Given the description of an element on the screen output the (x, y) to click on. 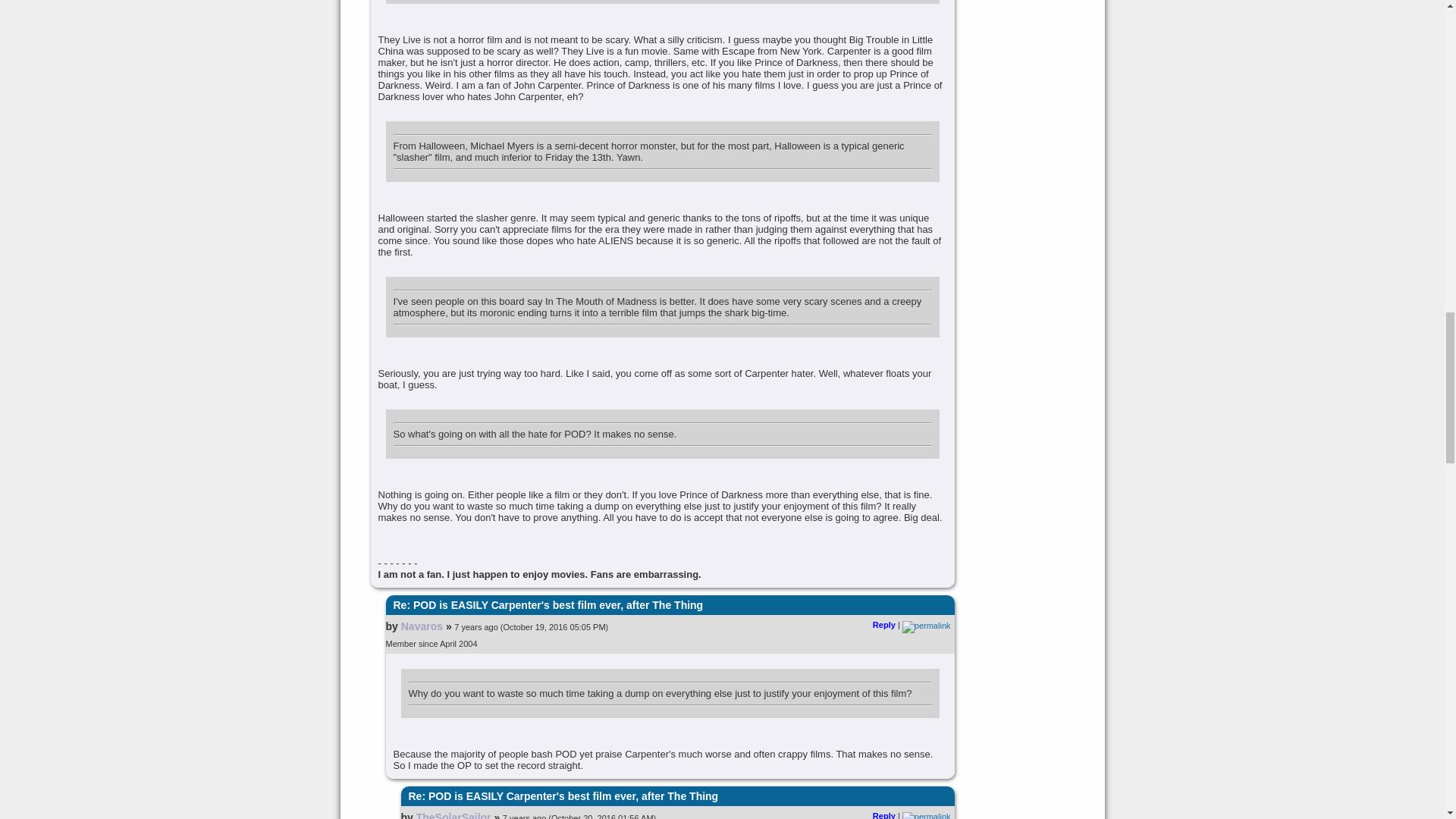
TheSolarSailor (454, 815)
Navaros (421, 625)
Reply (883, 624)
Reply (883, 815)
